Given the description of an element on the screen output the (x, y) to click on. 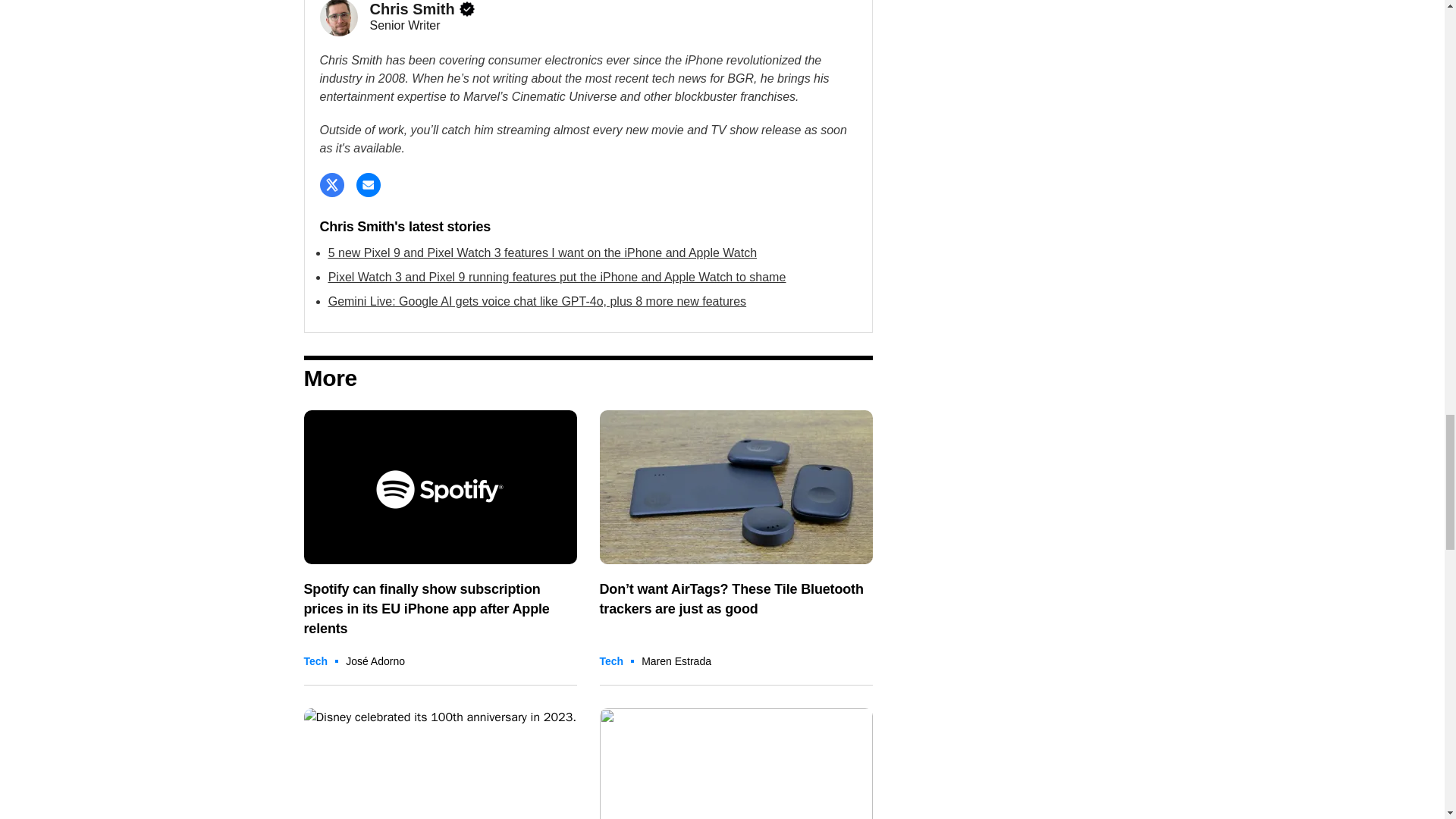
celiac cure (735, 763)
AirTag vs Tile (735, 487)
Posts by Maren Estrada (676, 661)
Disney Pixar (439, 763)
